Given the description of an element on the screen output the (x, y) to click on. 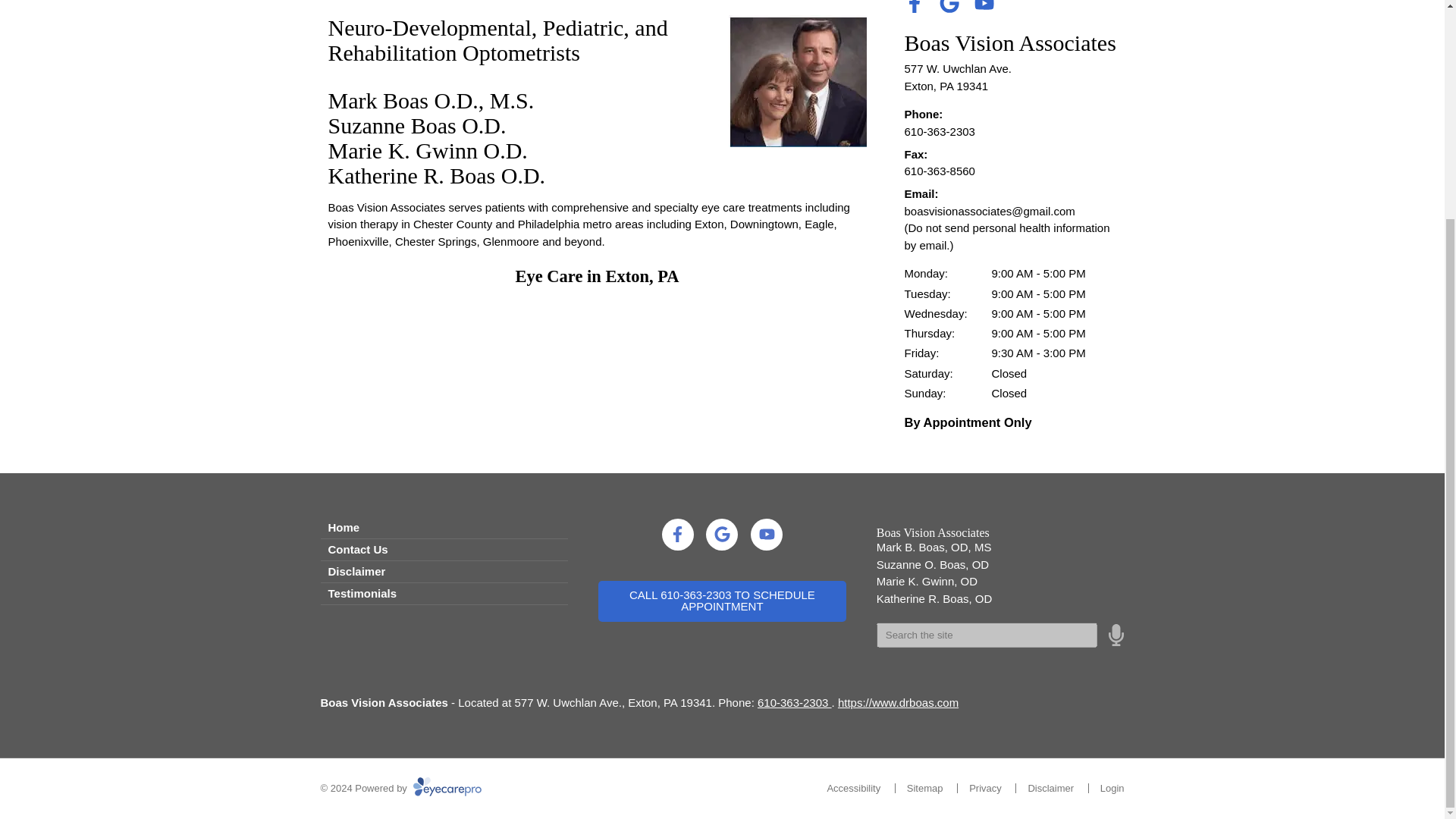
Speak Field (986, 634)
